Given the description of an element on the screen output the (x, y) to click on. 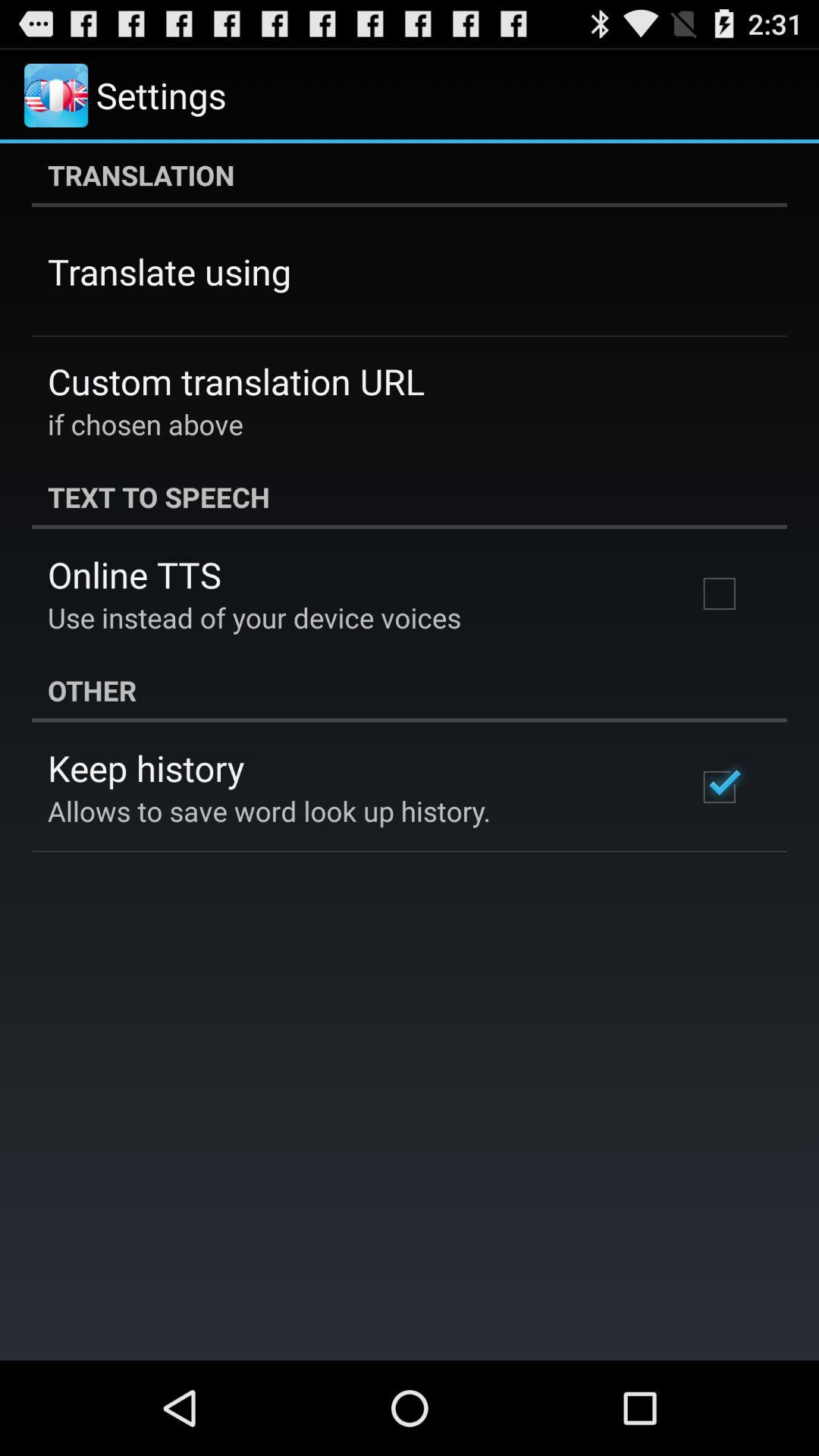
tap the icon above the online tts (409, 496)
